Given the description of an element on the screen output the (x, y) to click on. 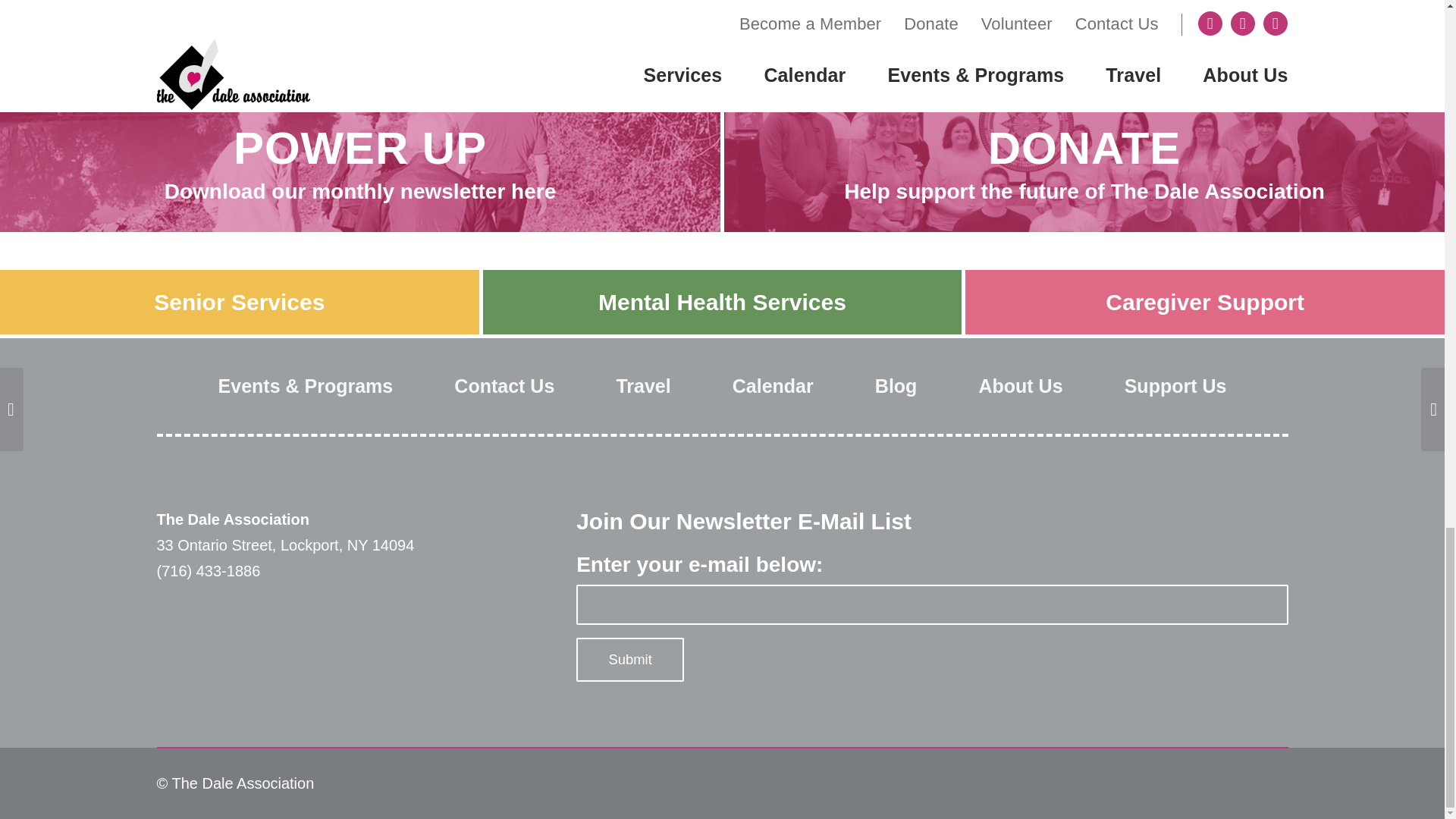
Submit (630, 659)
